Given the description of an element on the screen output the (x, y) to click on. 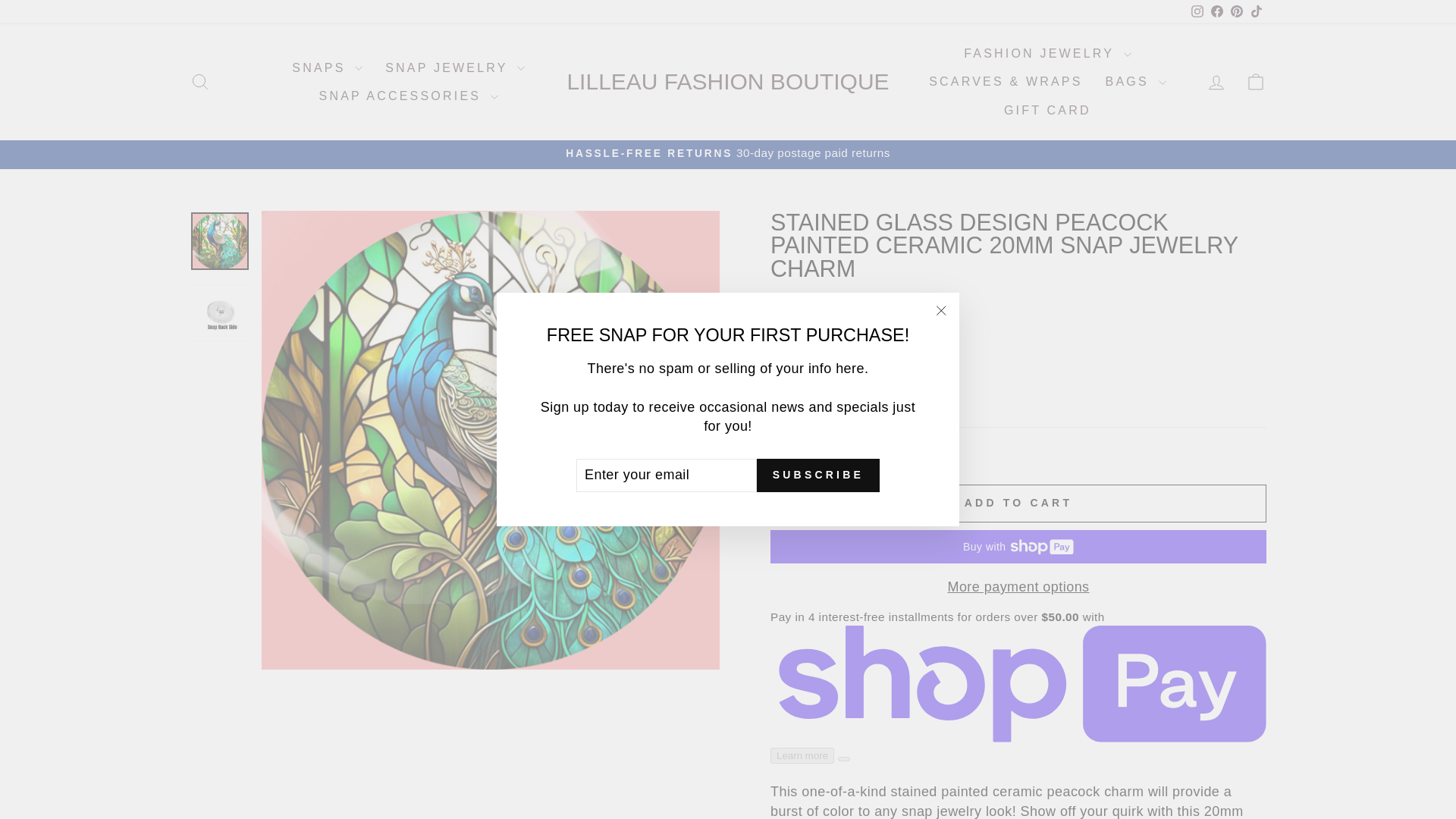
ICON-BAG-MINIMAL (1255, 81)
ICON-SEARCH (200, 81)
1 (800, 393)
instagram (1197, 10)
icon-X (941, 310)
ACCOUNT (1216, 82)
